Given the description of an element on the screen output the (x, y) to click on. 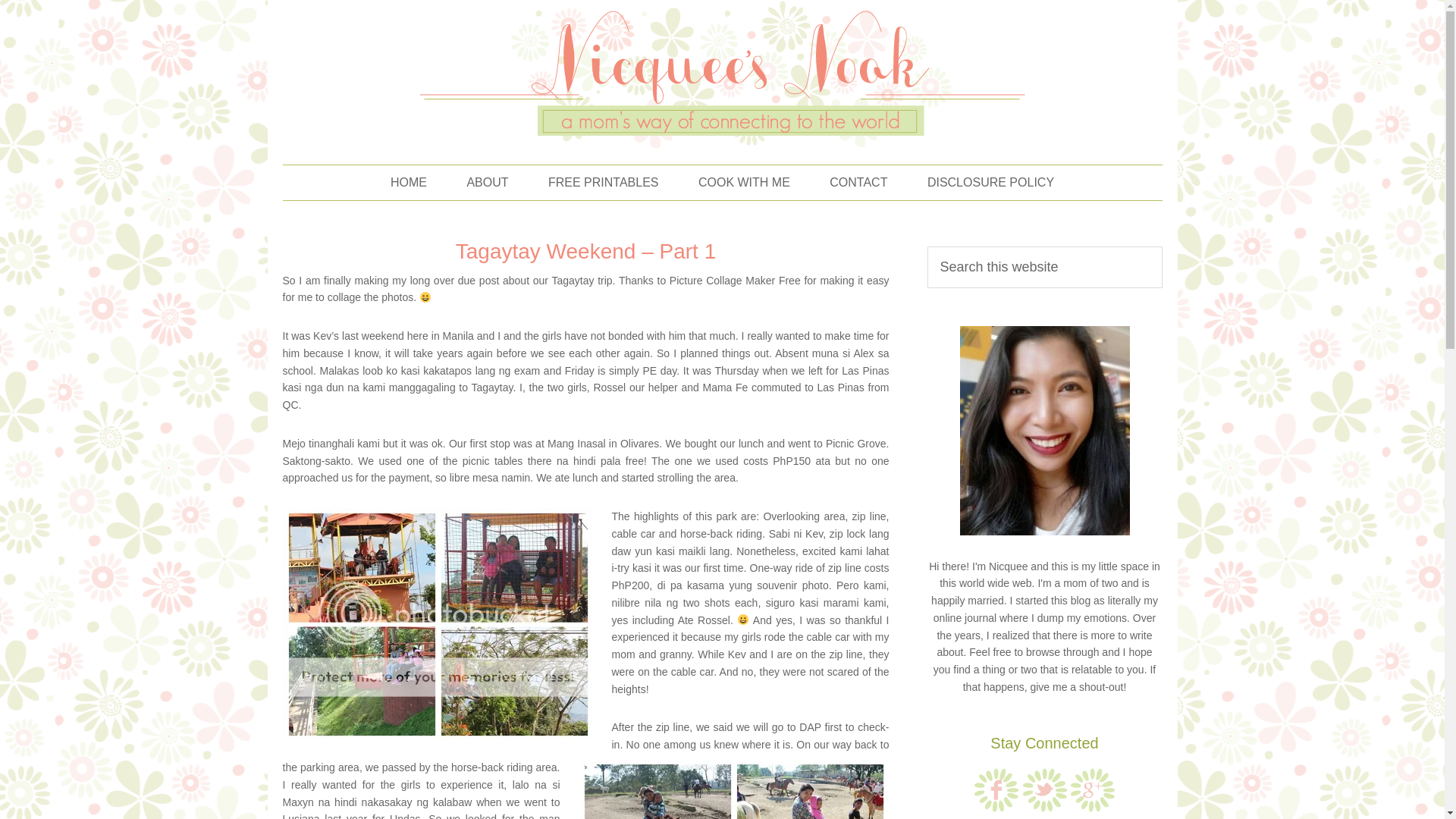
HOME (408, 182)
FREE PRINTABLES (603, 182)
CONTACT (857, 182)
ABOUT (486, 182)
DISCLOSURE POLICY (989, 182)
COOK WITH ME (743, 182)
